Given the description of an element on the screen output the (x, y) to click on. 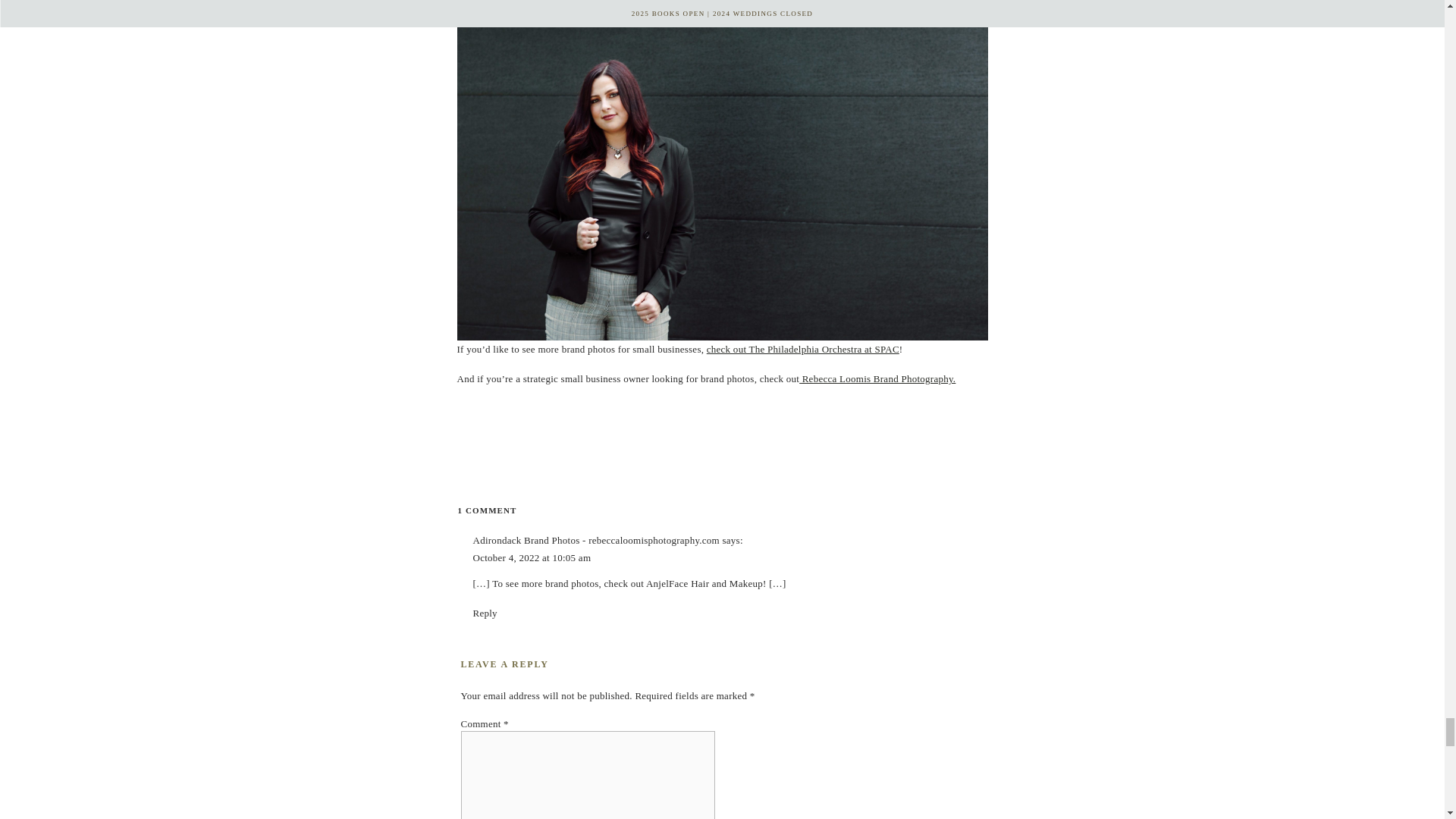
Rebecca Loomis Brand Photography. (877, 378)
Adirondack Brand Photos - rebeccaloomisphotography.com (596, 540)
check out The Philadelphia Orchestra at SPAC (487, 510)
Reply (802, 348)
October 4, 2022 at 10:05 am (485, 613)
